Given the description of an element on the screen output the (x, y) to click on. 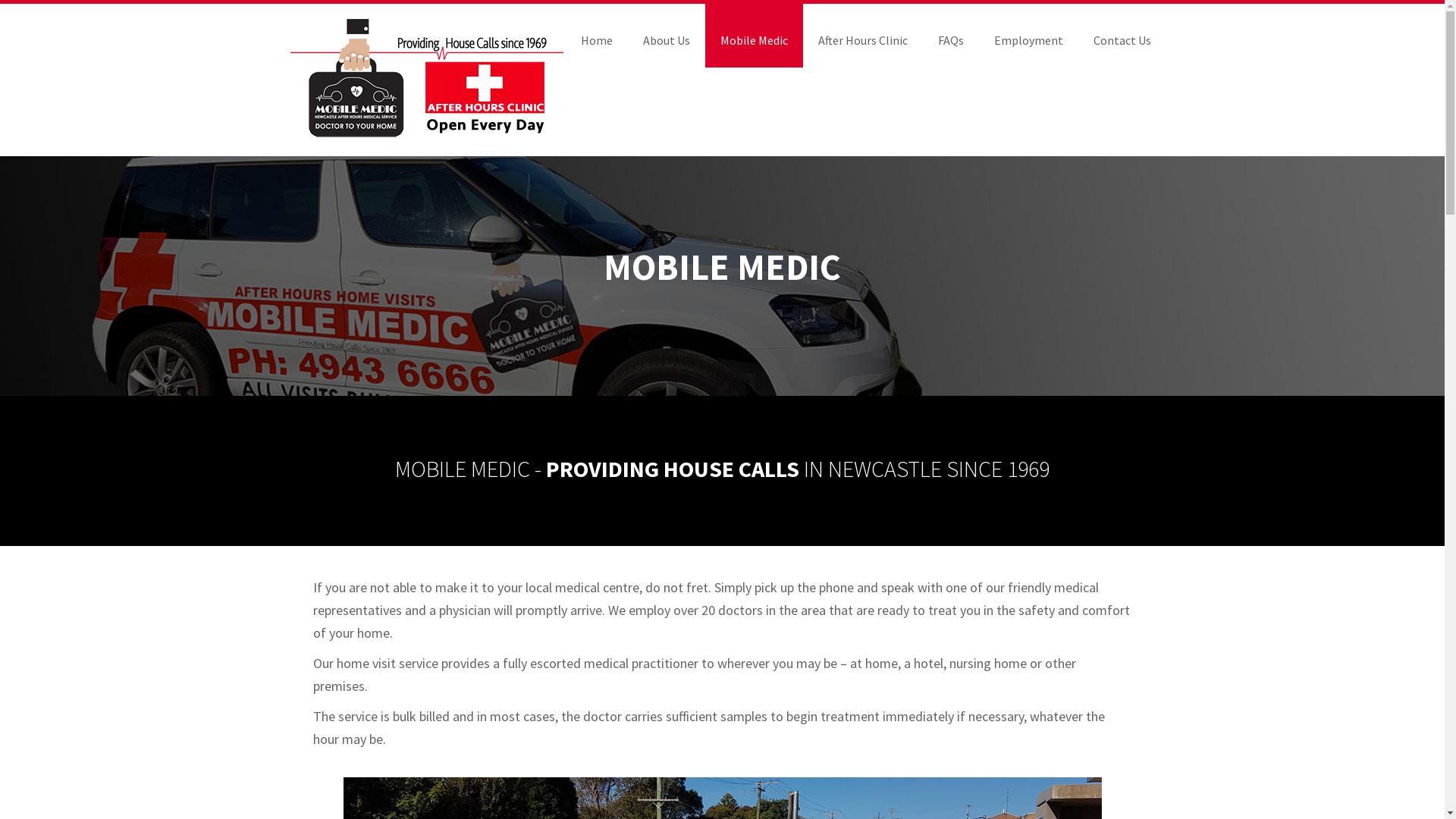
About Us Element type: text (666, 35)
Home Element type: text (596, 35)
Contact Us Element type: text (1122, 35)
After Hours Clinic Element type: text (862, 35)
Employment Element type: text (1027, 35)
FAQs Element type: text (950, 35)
Mobile Medic Element type: text (754, 35)
